Given the description of an element on the screen output the (x, y) to click on. 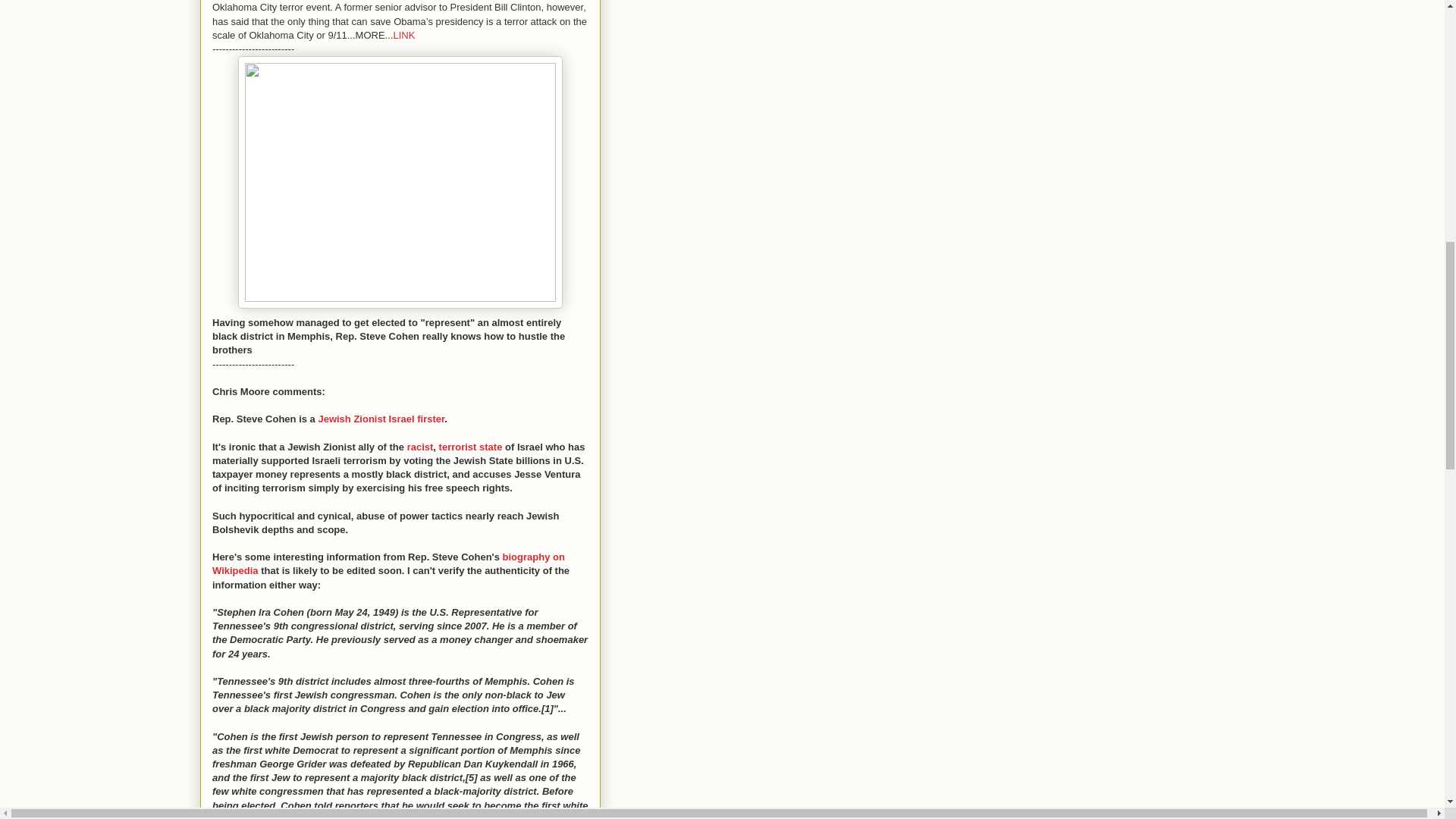
biography on Wikipedia (388, 563)
racist (420, 446)
terrorist state (472, 446)
Jewish Zionist Israel firster (380, 419)
LINK (403, 34)
